Given the description of an element on the screen output the (x, y) to click on. 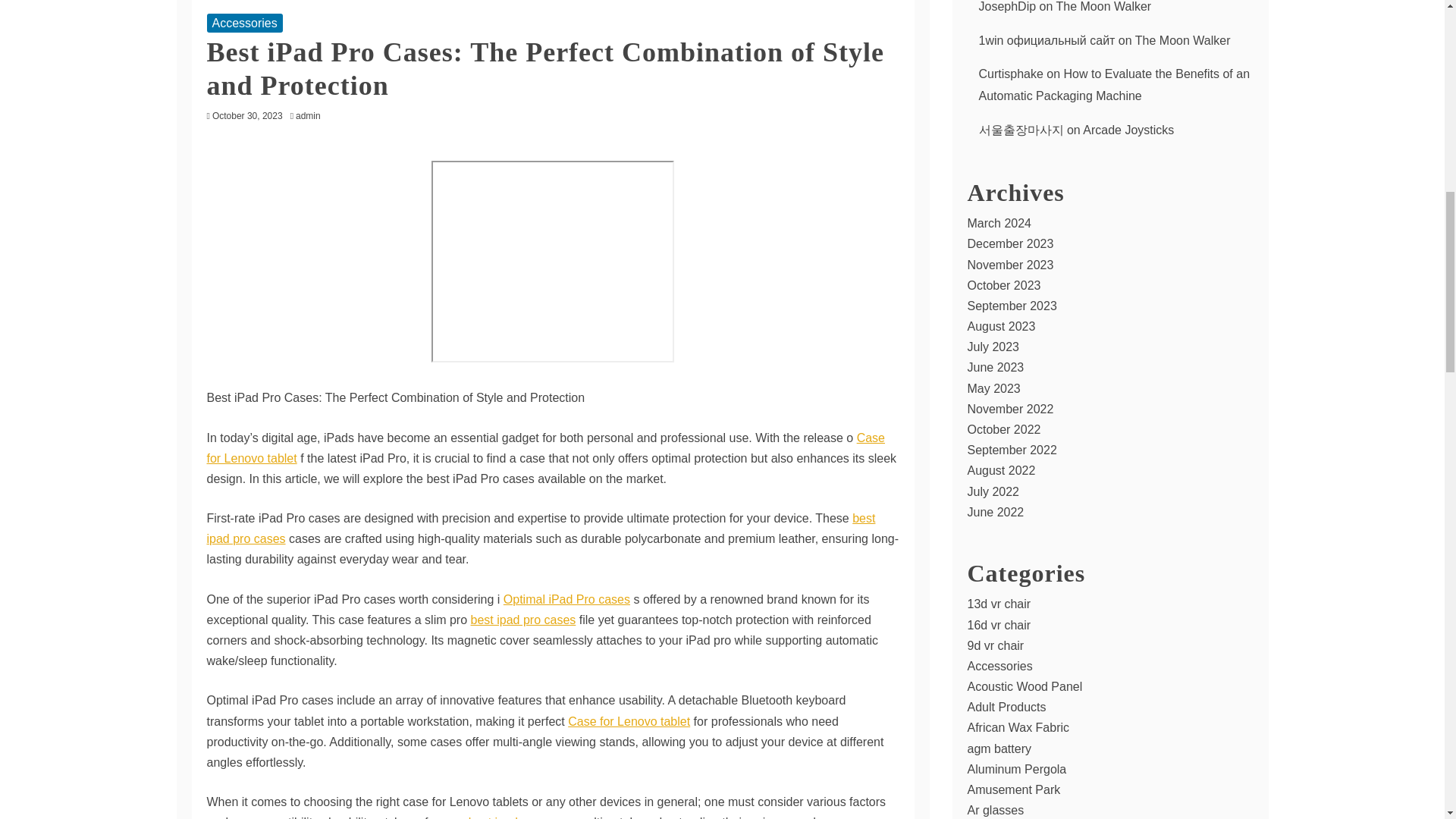
best ipad pro cases (540, 528)
Case for Lenovo tablet (628, 721)
Optimal iPad Pro cases (566, 599)
admin (312, 115)
October 30, 2023 (247, 115)
best ipad pro cases (520, 817)
best ipad pro cases (523, 619)
Case for Lenovo tablet (545, 448)
Accessories (244, 22)
